Given the description of an element on the screen output the (x, y) to click on. 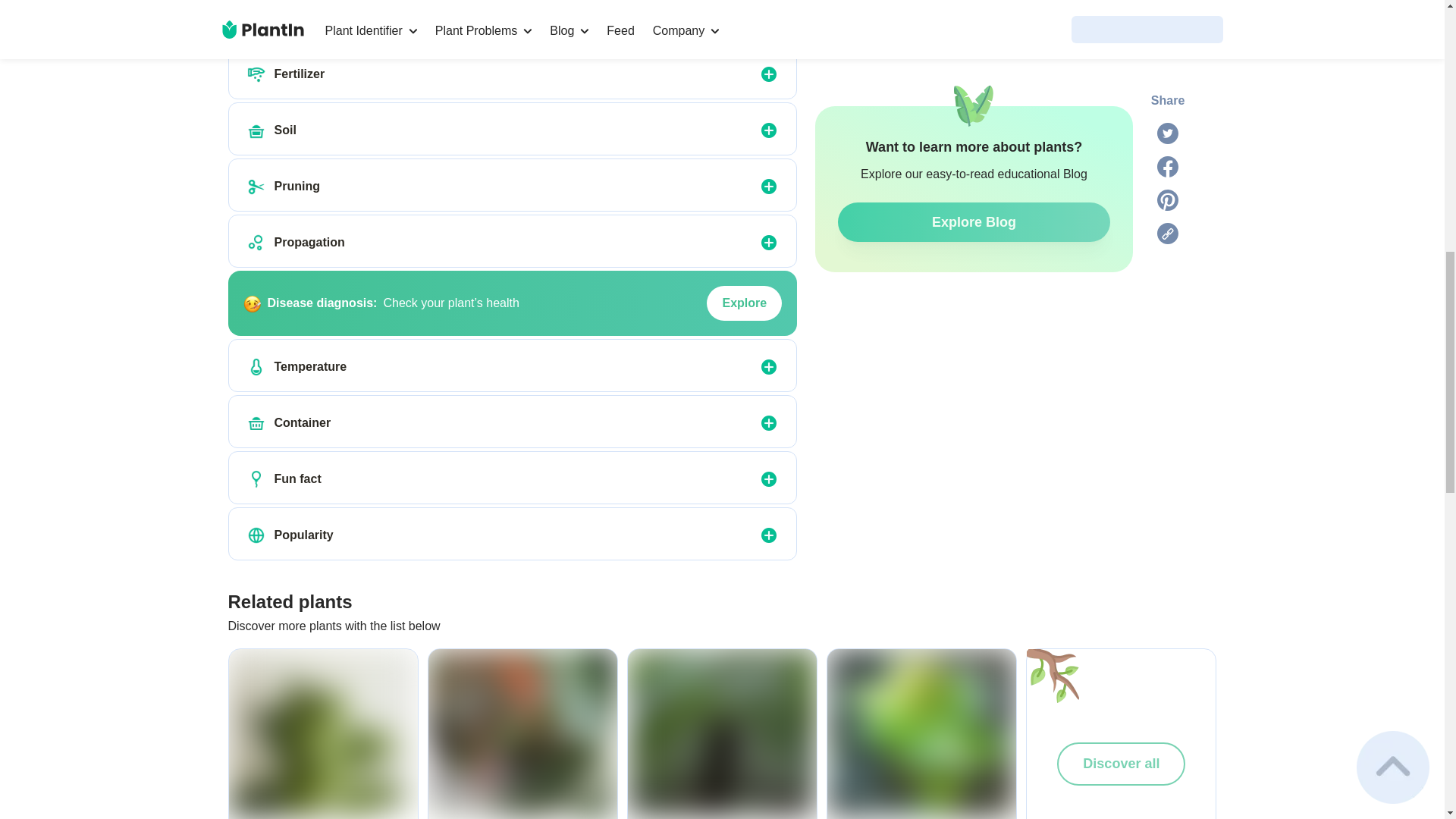
Propagation (255, 242)
Sunlight (255, 18)
Fertilizer (255, 74)
Soil (255, 130)
Explore (743, 303)
Pruning (255, 186)
